Given the description of an element on the screen output the (x, y) to click on. 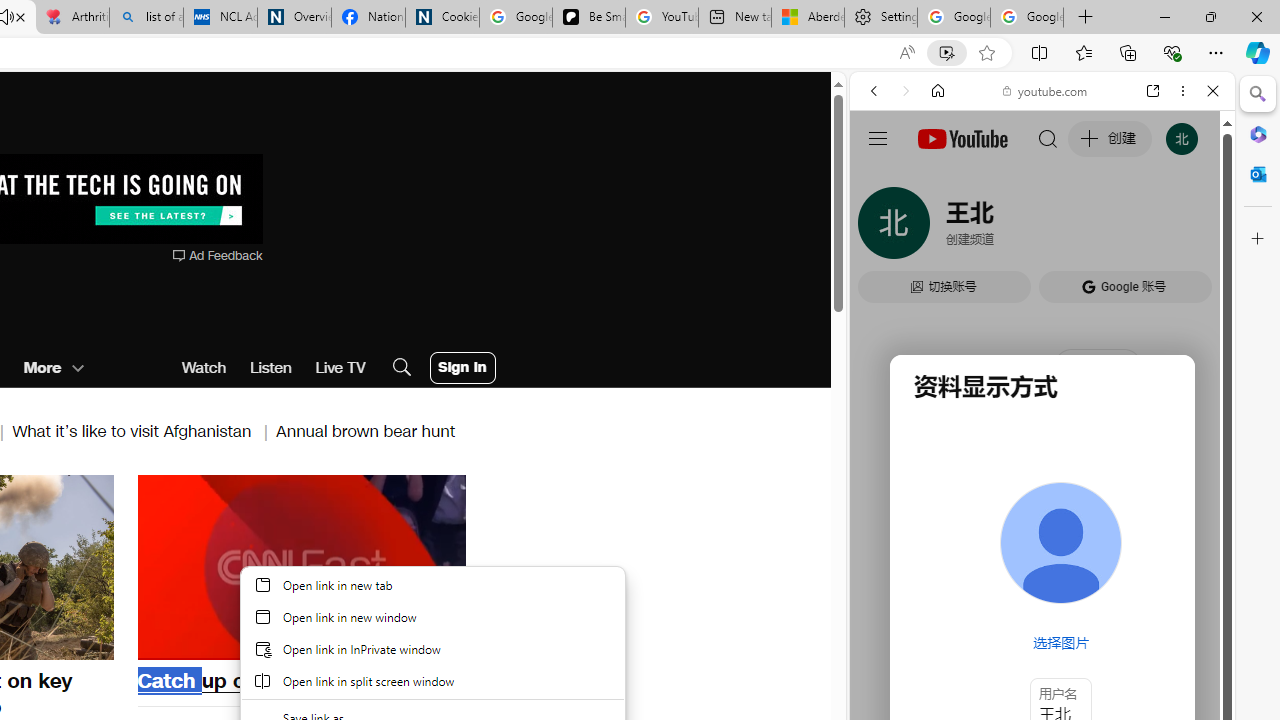
Be Smart | creating Science videos | Patreon (588, 17)
